Given the description of an element on the screen output the (x, y) to click on. 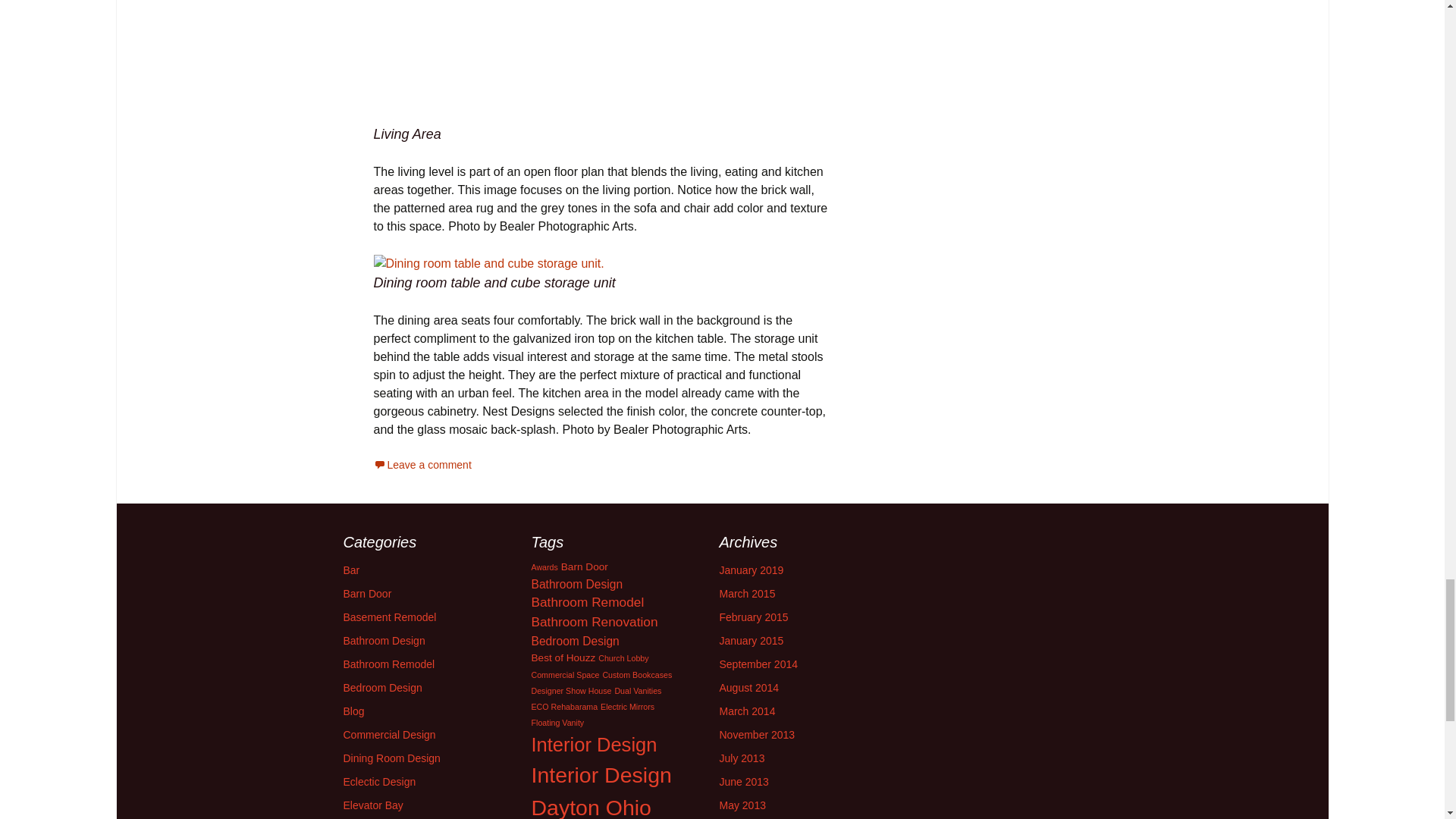
Dining room table and cube storage unit. (488, 263)
Leave a comment (421, 464)
Living area  (601, 62)
